Given the description of an element on the screen output the (x, y) to click on. 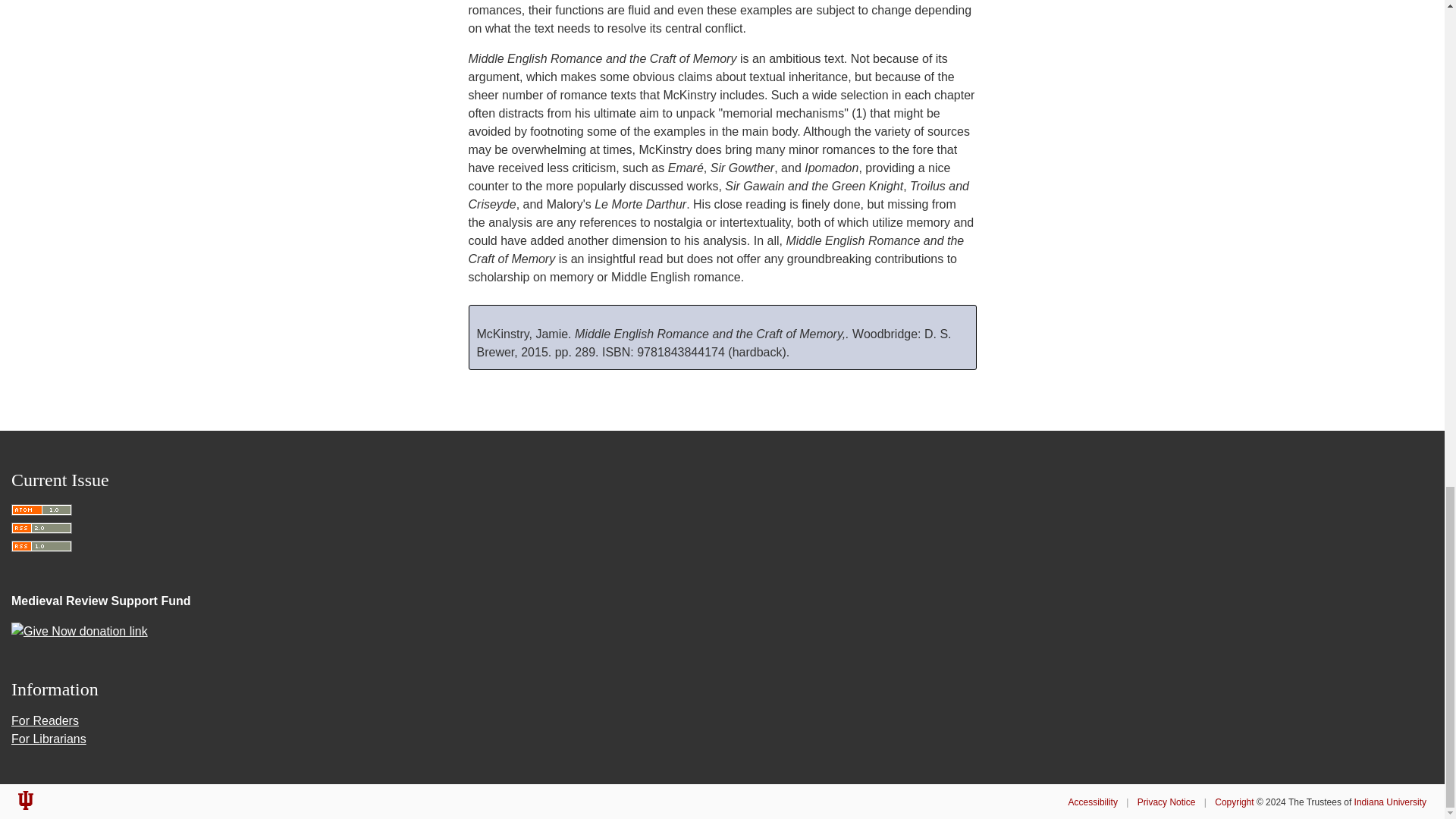
For Readers (44, 720)
Copyright (1233, 801)
Privacy Notice (1166, 801)
Indiana University (1390, 801)
Accessibility (1093, 801)
For Librarians (48, 738)
